Given the description of an element on the screen output the (x, y) to click on. 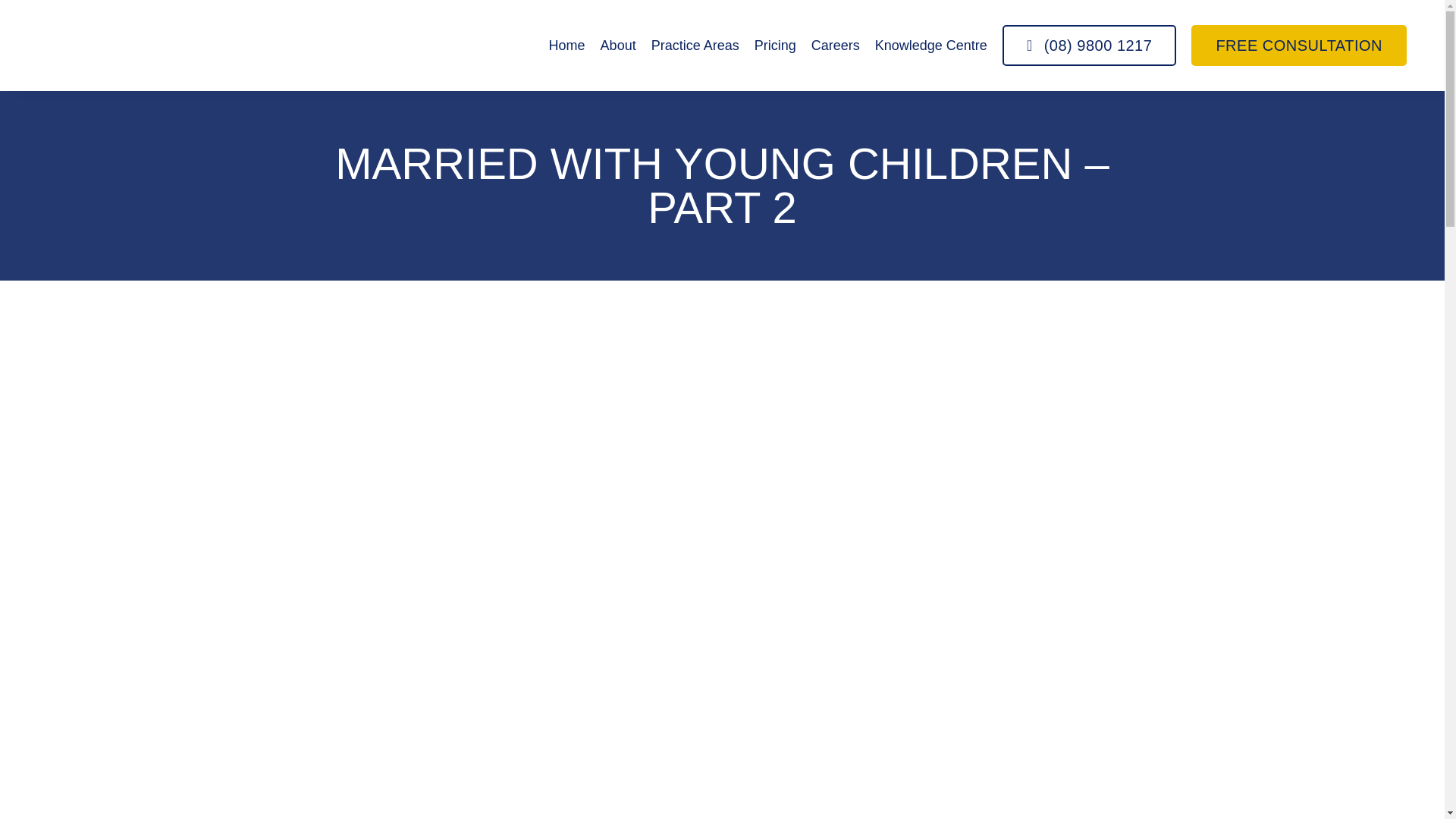
Careers (835, 45)
Pricing (775, 45)
FREE CONSULTATION (1298, 45)
Home (566, 45)
Knowledge Centre (931, 45)
Practice Areas (694, 45)
